Given the description of an element on the screen output the (x, y) to click on. 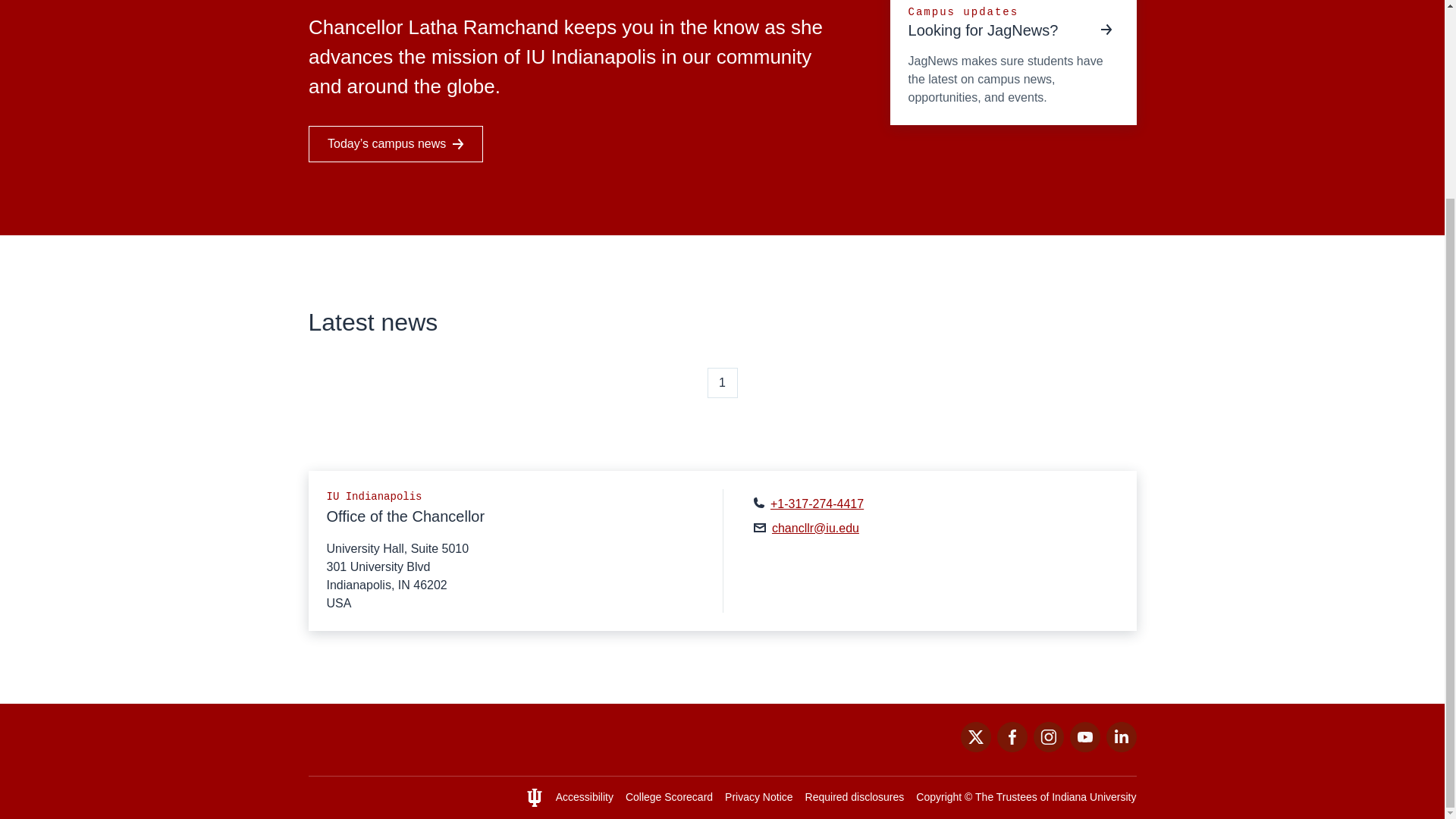
Copyright (937, 797)
College Scorecard (669, 797)
facebook (1010, 748)
Required disclosures (854, 797)
Accessibility (584, 797)
Privacy Notice (758, 797)
youtube (1083, 748)
Looking for JagNews? (997, 30)
x (974, 748)
linkedin (1120, 748)
Indiana University (1093, 797)
instagram (1047, 748)
